Given the description of an element on the screen output the (x, y) to click on. 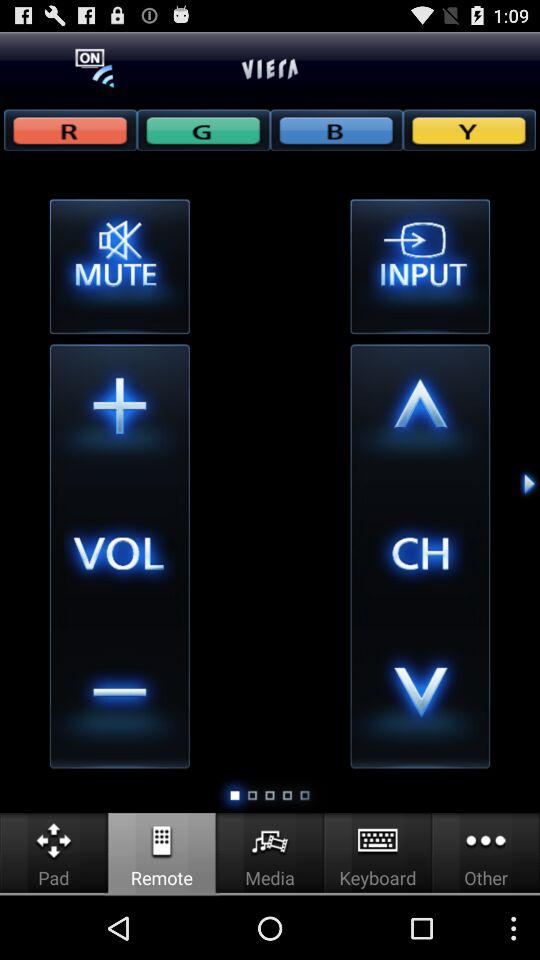
mute (119, 266)
